Given the description of an element on the screen output the (x, y) to click on. 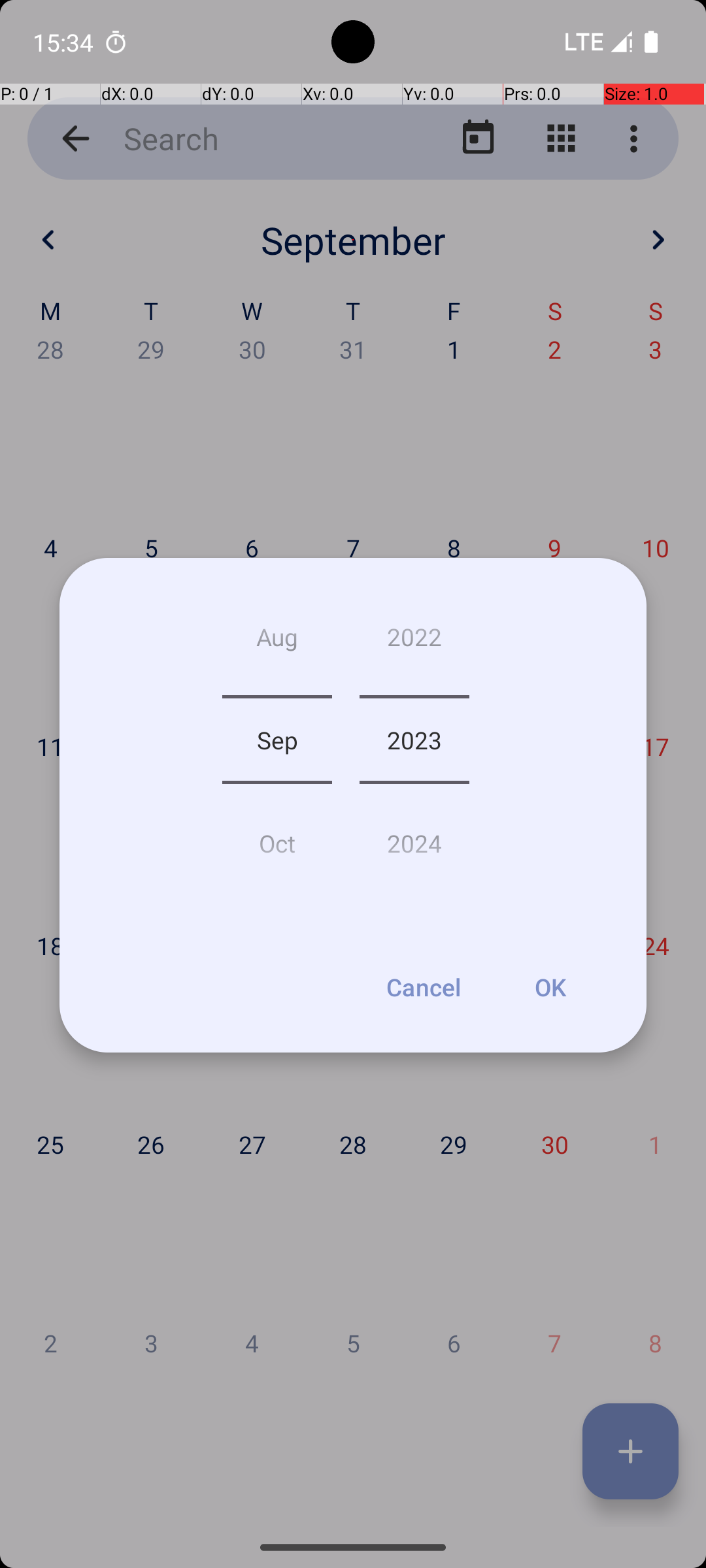
Aug Element type: android.widget.Button (277, 641)
